Given the description of an element on the screen output the (x, y) to click on. 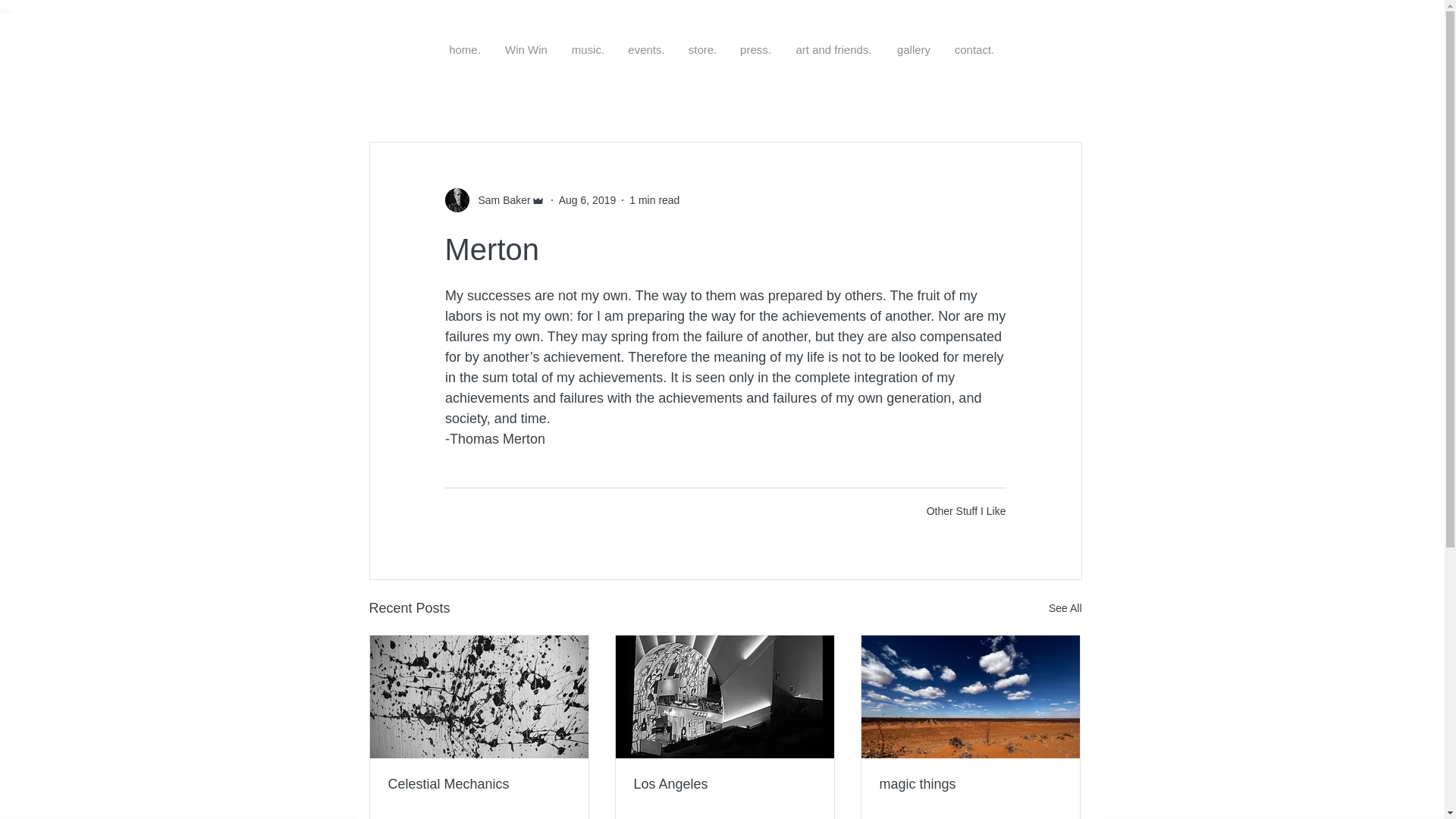
Los Angeles (724, 784)
home. (464, 49)
gallery (913, 49)
Celestial Mechanics (479, 784)
press. (756, 49)
Aug 6, 2019 (587, 200)
art and friends. (834, 49)
contact. (974, 49)
music. (587, 49)
magic things (970, 784)
Sam Baker (498, 200)
events. (646, 49)
1 min read (653, 200)
Other Stuff I Like (966, 510)
See All (1064, 608)
